Given the description of an element on the screen output the (x, y) to click on. 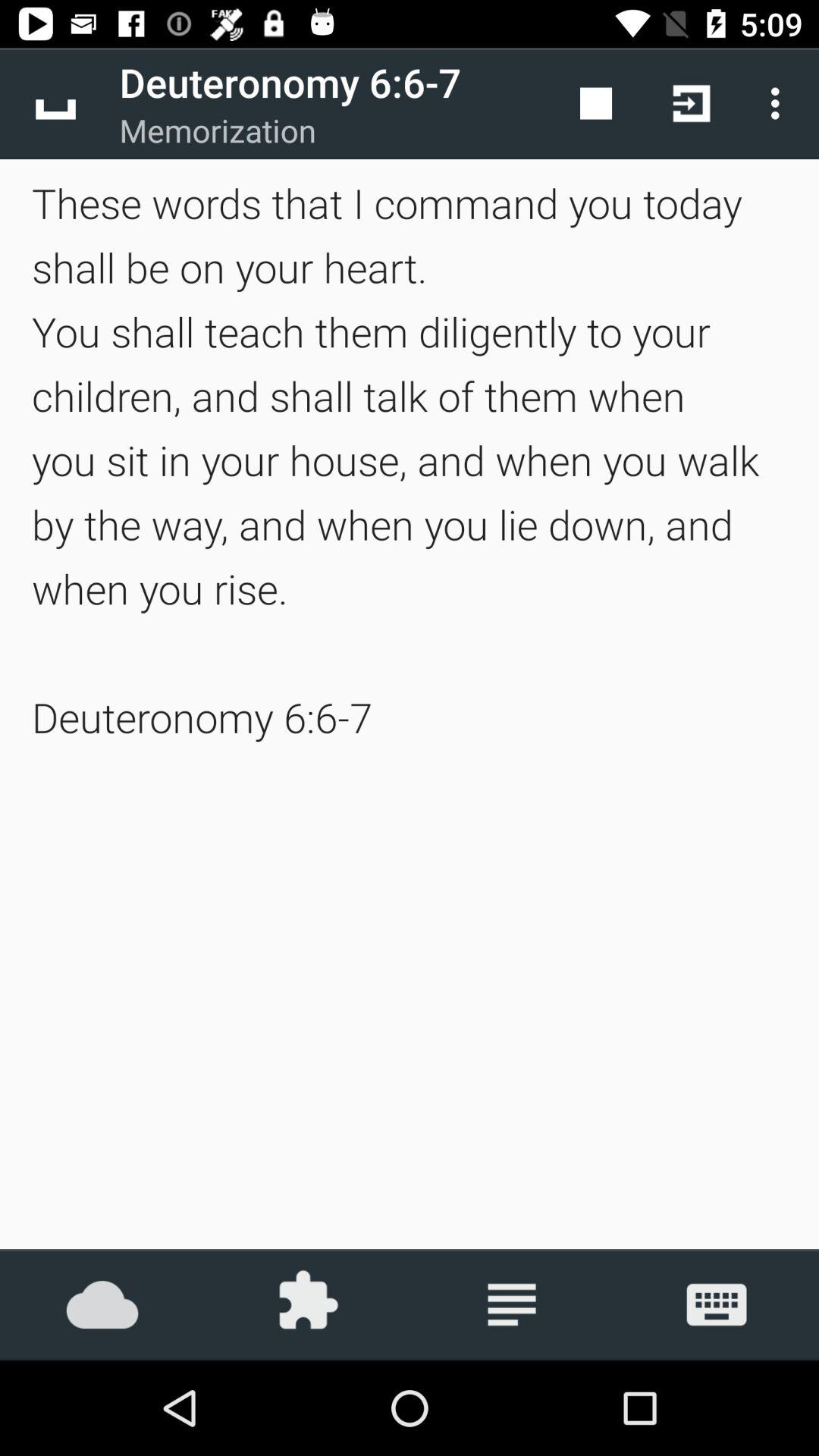
select the app next to deuteronomy 6 6 app (55, 103)
